Given the description of an element on the screen output the (x, y) to click on. 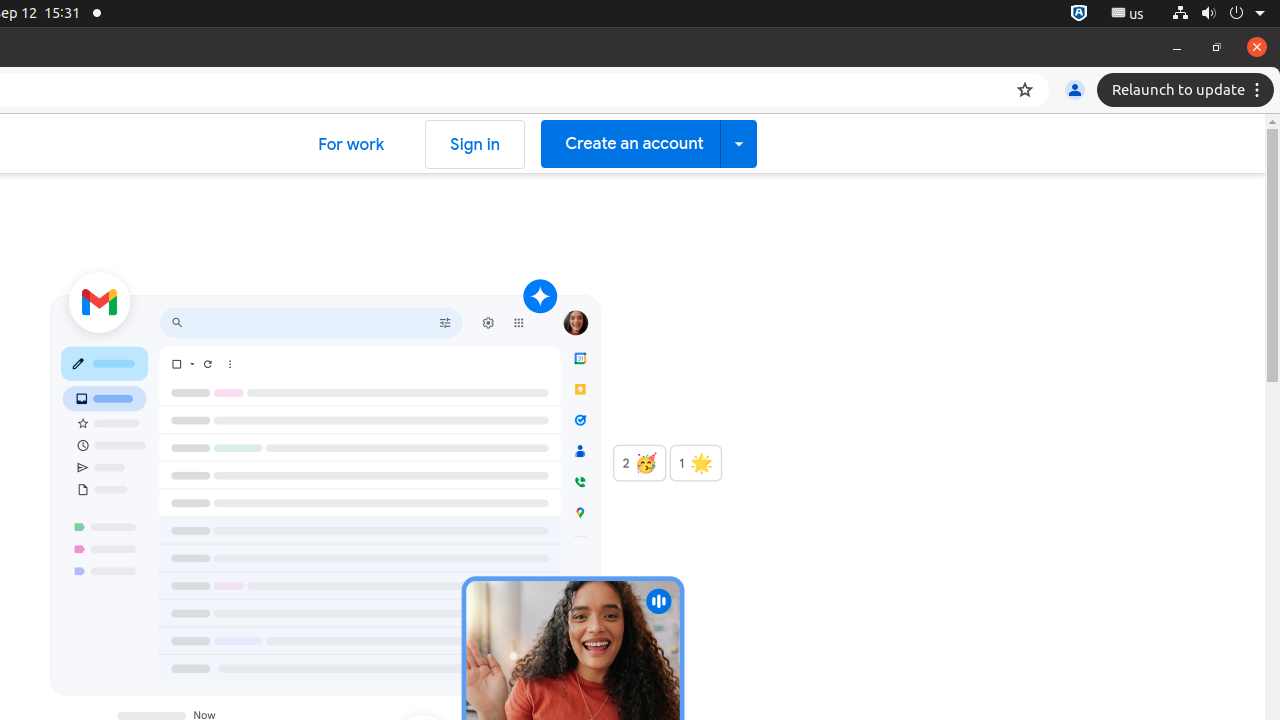
You Element type: push-button (1075, 90)
:1.72/StatusNotifierItem Element type: menu (1079, 13)
System Element type: menu (1218, 13)
Create an account Element type: toggle-button (649, 143)
Sign in Element type: link (475, 144)
